Given the description of an element on the screen output the (x, y) to click on. 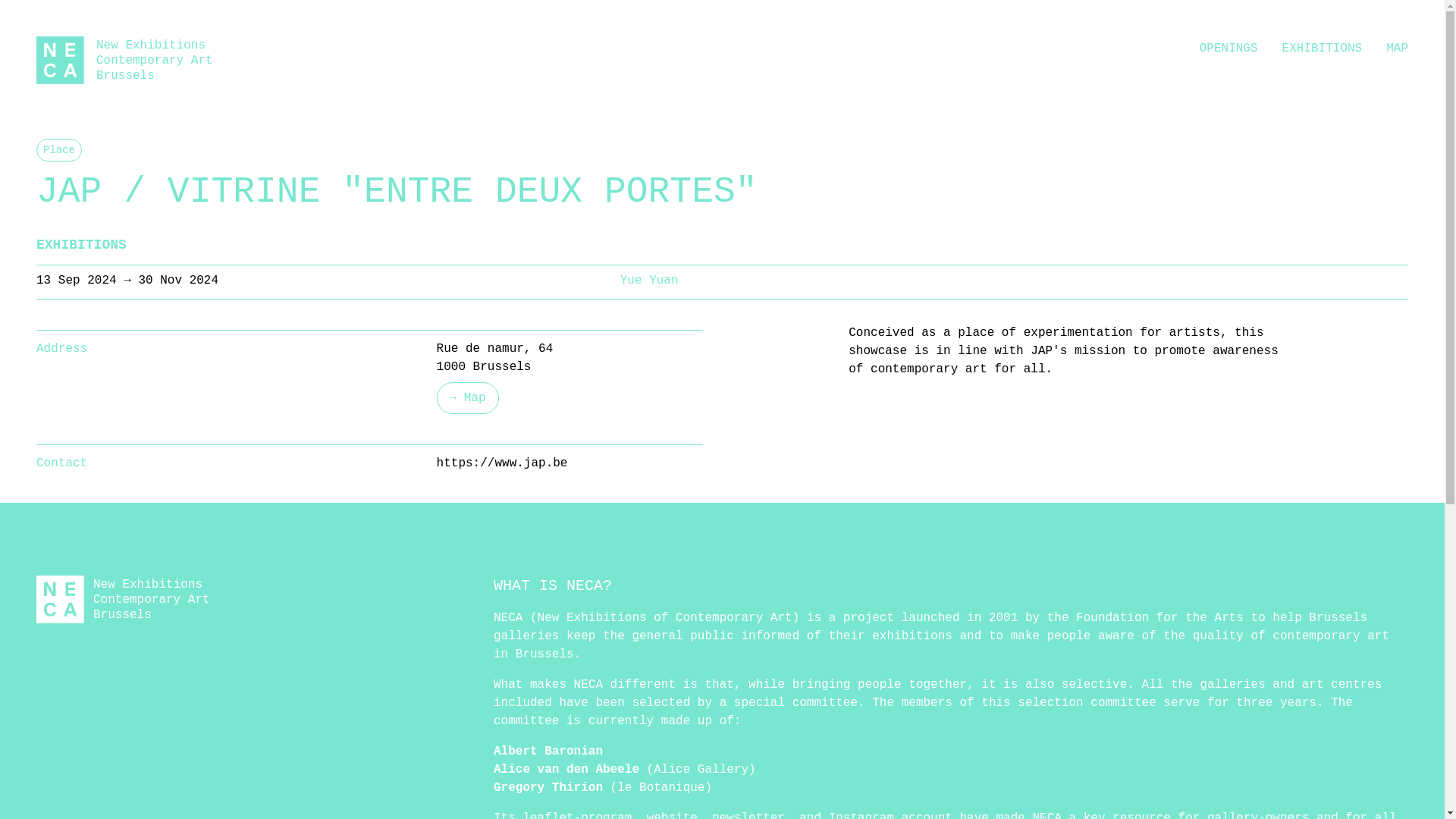
EXHIBITIONS (1322, 47)
OPENINGS (1228, 47)
Yue Yuan (124, 60)
MAP (649, 280)
